Given the description of an element on the screen output the (x, y) to click on. 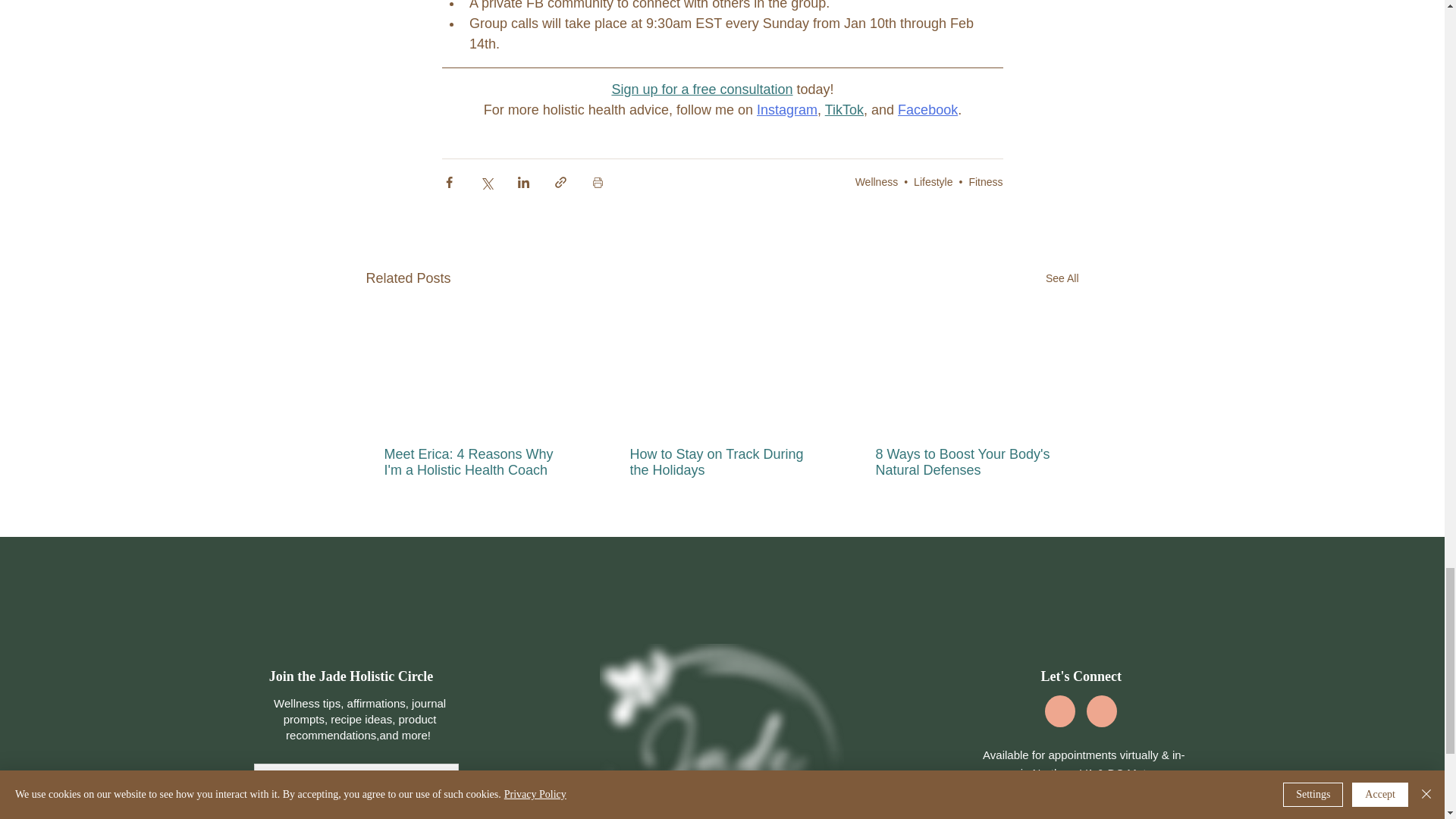
Fitness (985, 182)
Instagram (785, 109)
Yes, sign me up! (355, 816)
See All (1061, 278)
Facebook (928, 109)
Wellness (877, 182)
How to Stay on Track During the Holidays (720, 462)
Meet Erica: 4 Reasons Why I'm a Holistic Health Coach (475, 462)
8 Ways to Boost Your Body's Natural Defenses (966, 462)
Lifestyle (933, 182)
